Given the description of an element on the screen output the (x, y) to click on. 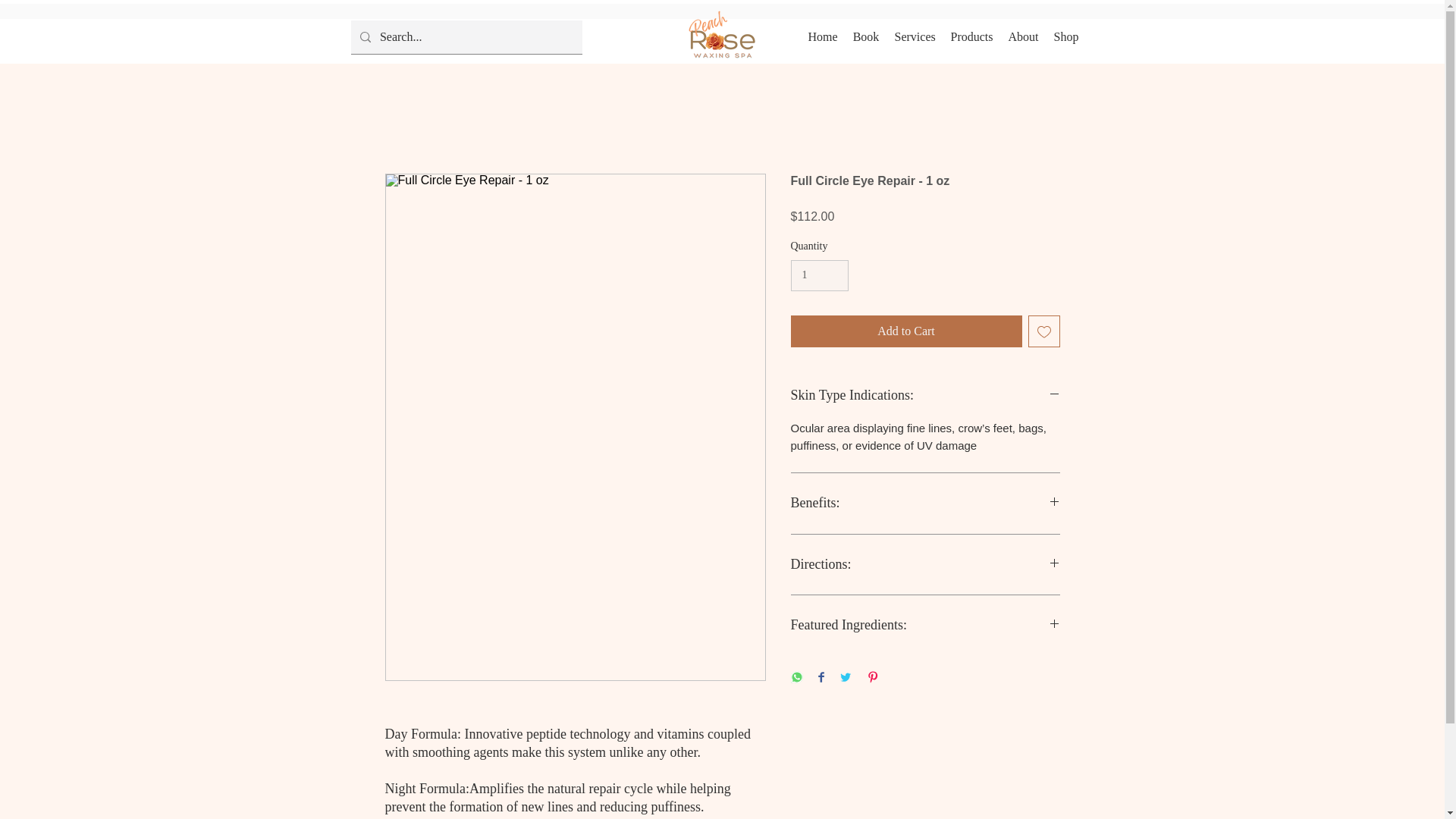
Home (822, 36)
Benefits: (924, 503)
Services (914, 36)
Skin Type Indications: (924, 395)
Add to Cart (906, 331)
Directions: (924, 564)
Featured Ingredients: (924, 625)
Book (865, 36)
Shop (1066, 36)
1 (818, 275)
